Given the description of an element on the screen output the (x, y) to click on. 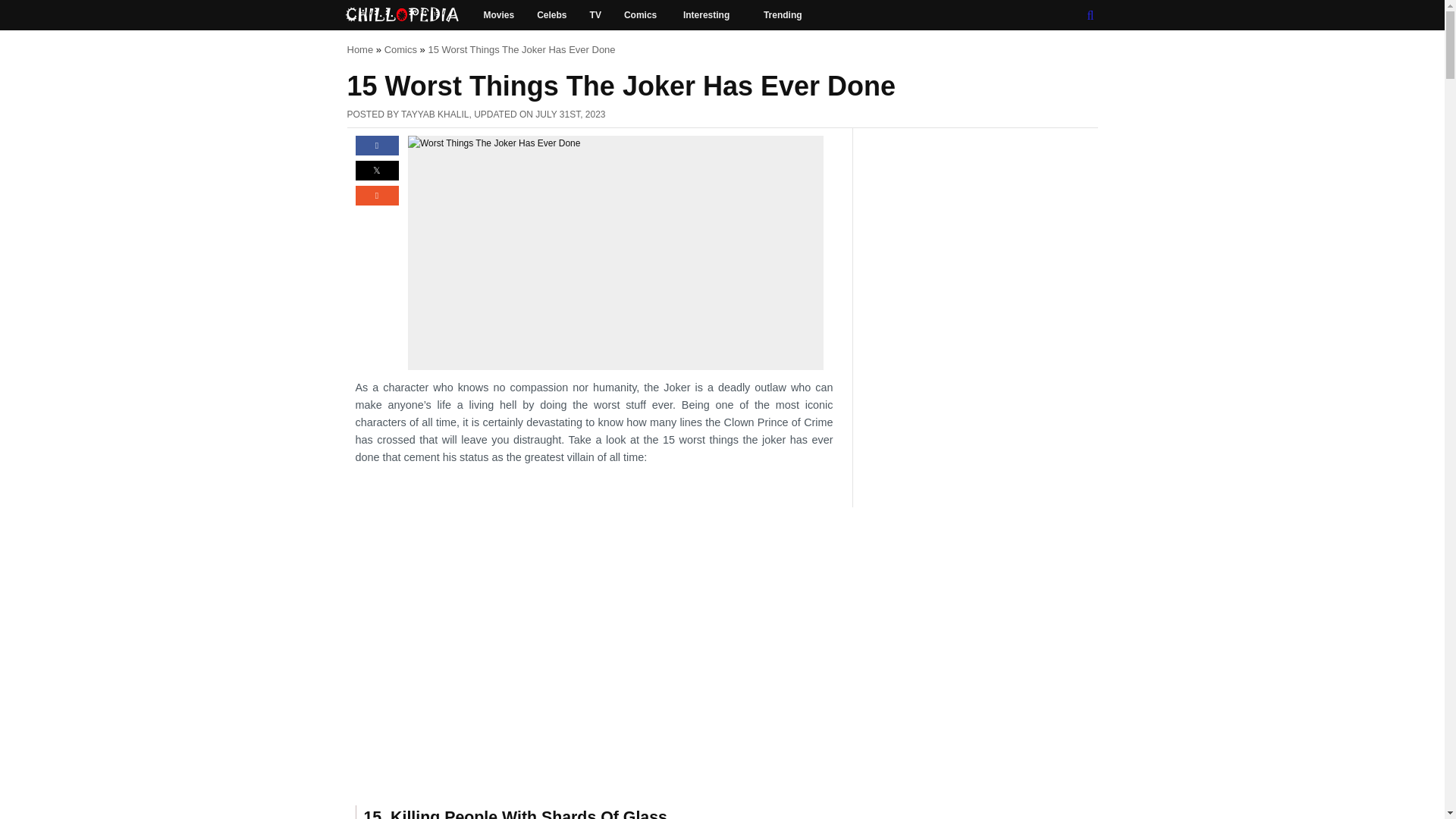
TAYYAB KHALIL (434, 113)
Comics (641, 15)
Comics (400, 49)
Celebs (551, 15)
Interesting (711, 15)
TV (595, 15)
Tweet (376, 176)
Trending (782, 15)
Home (360, 49)
Share on Reddit (376, 202)
